Given the description of an element on the screen output the (x, y) to click on. 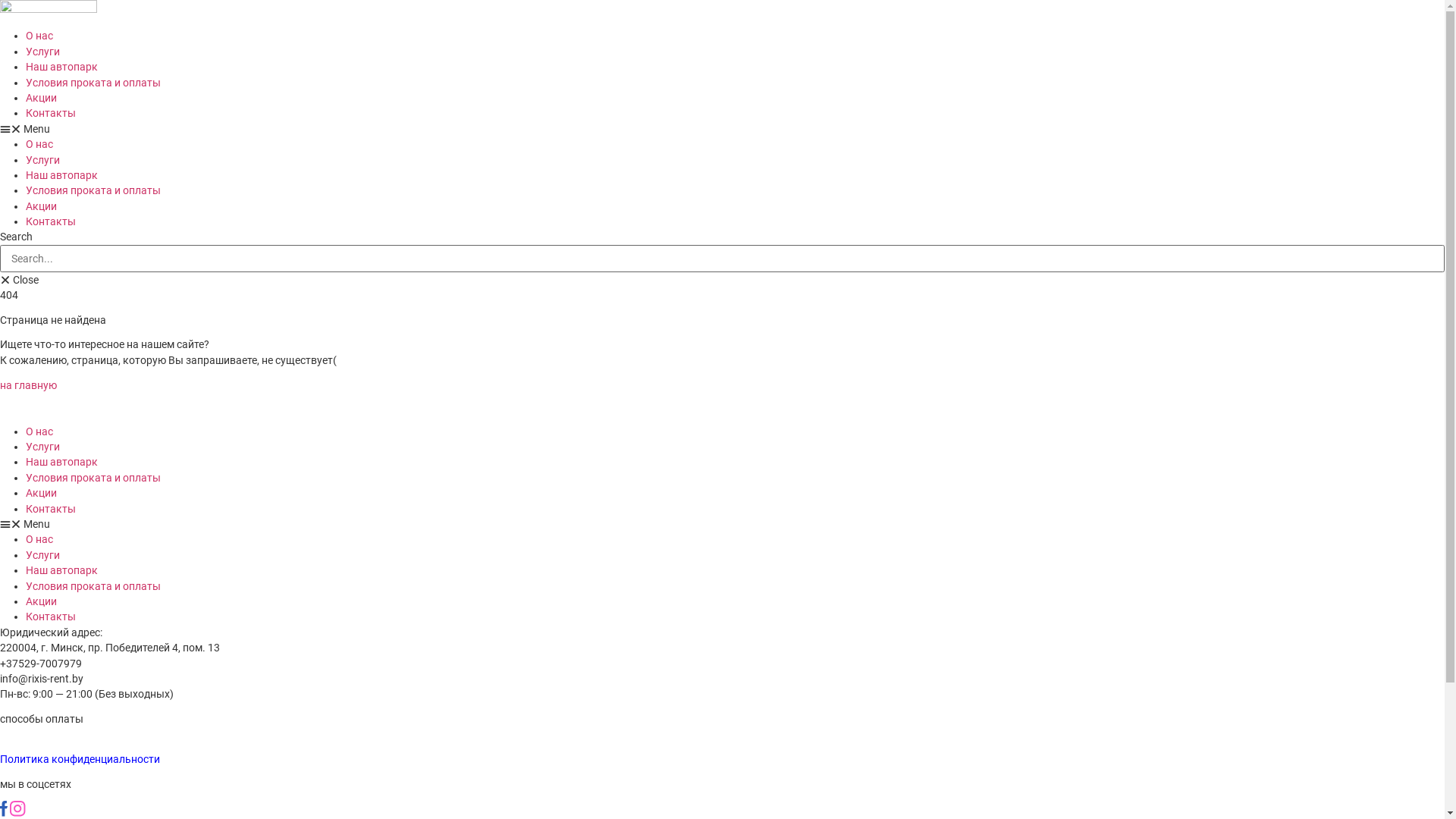
+37529-7007979 Element type: text (48, 779)
